Given the description of an element on the screen output the (x, y) to click on. 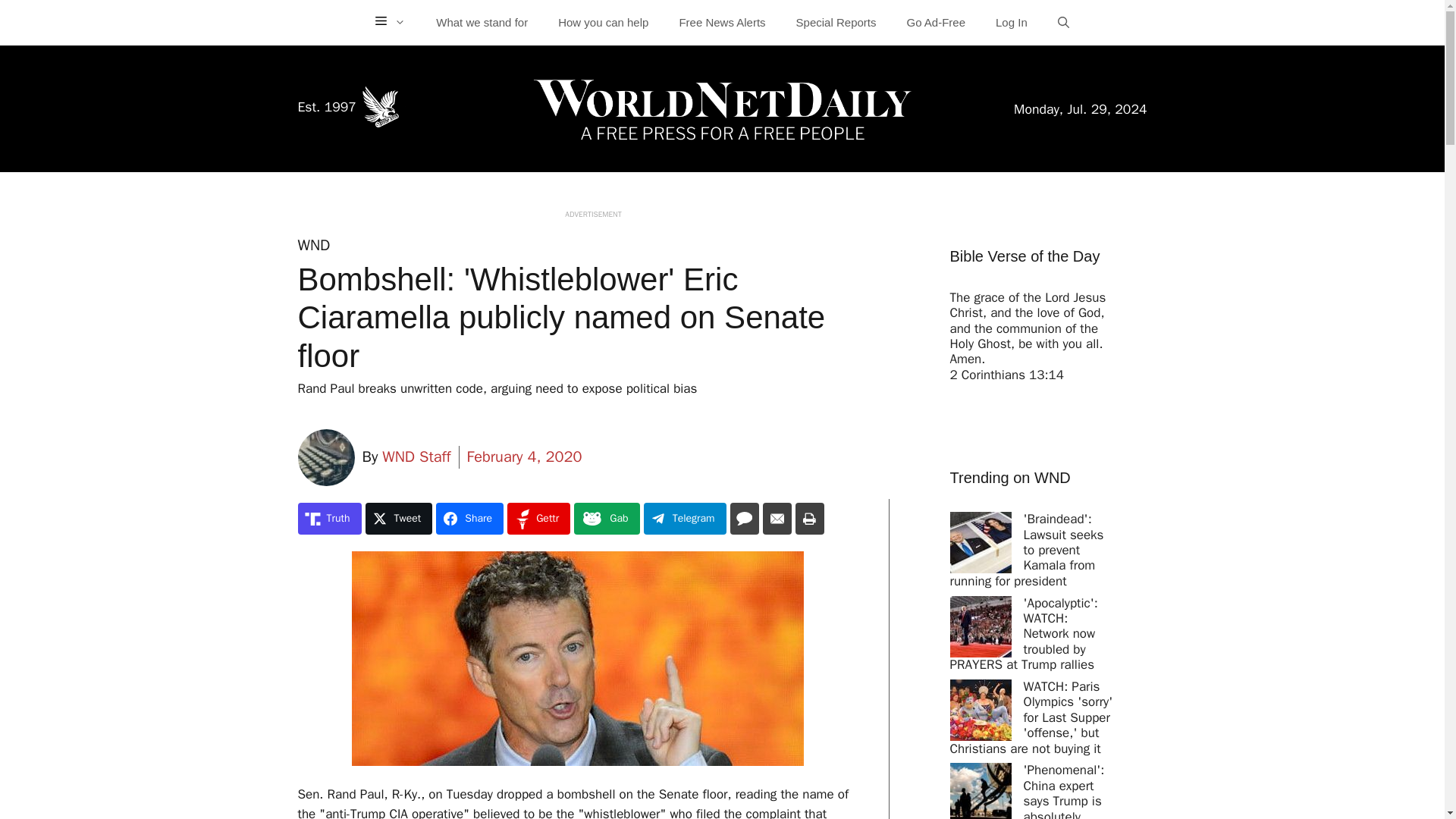
Share on Share (469, 518)
Share on Telegram (684, 518)
Share on Gab (606, 518)
Share on Gettr (538, 518)
Share on Tweet (398, 518)
Share on Truth (329, 518)
